Given the description of an element on the screen output the (x, y) to click on. 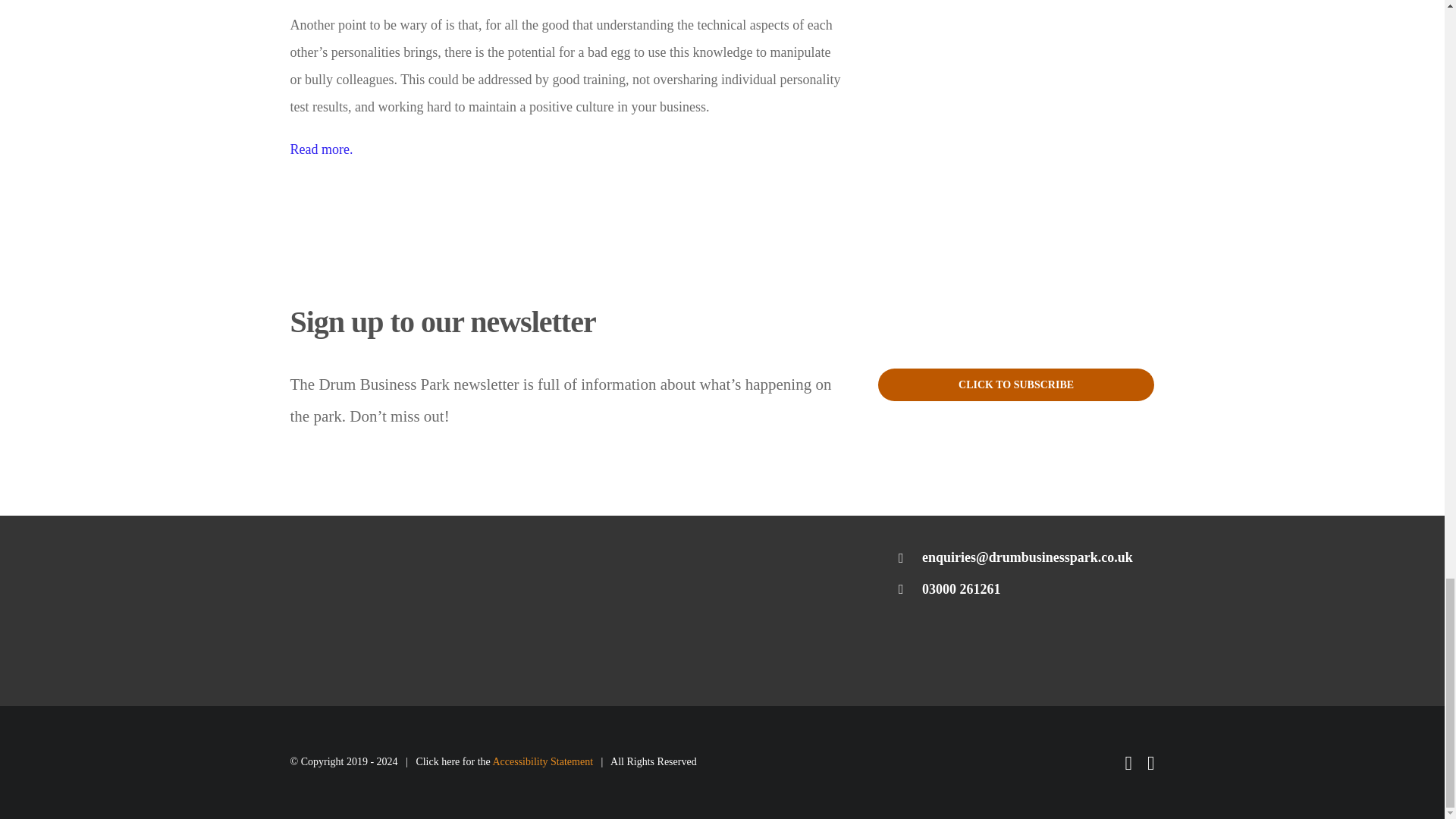
Accessibility Statement (542, 761)
CLICK TO SUBSCRIBE (1015, 384)
Read more.  (322, 149)
